Given the description of an element on the screen output the (x, y) to click on. 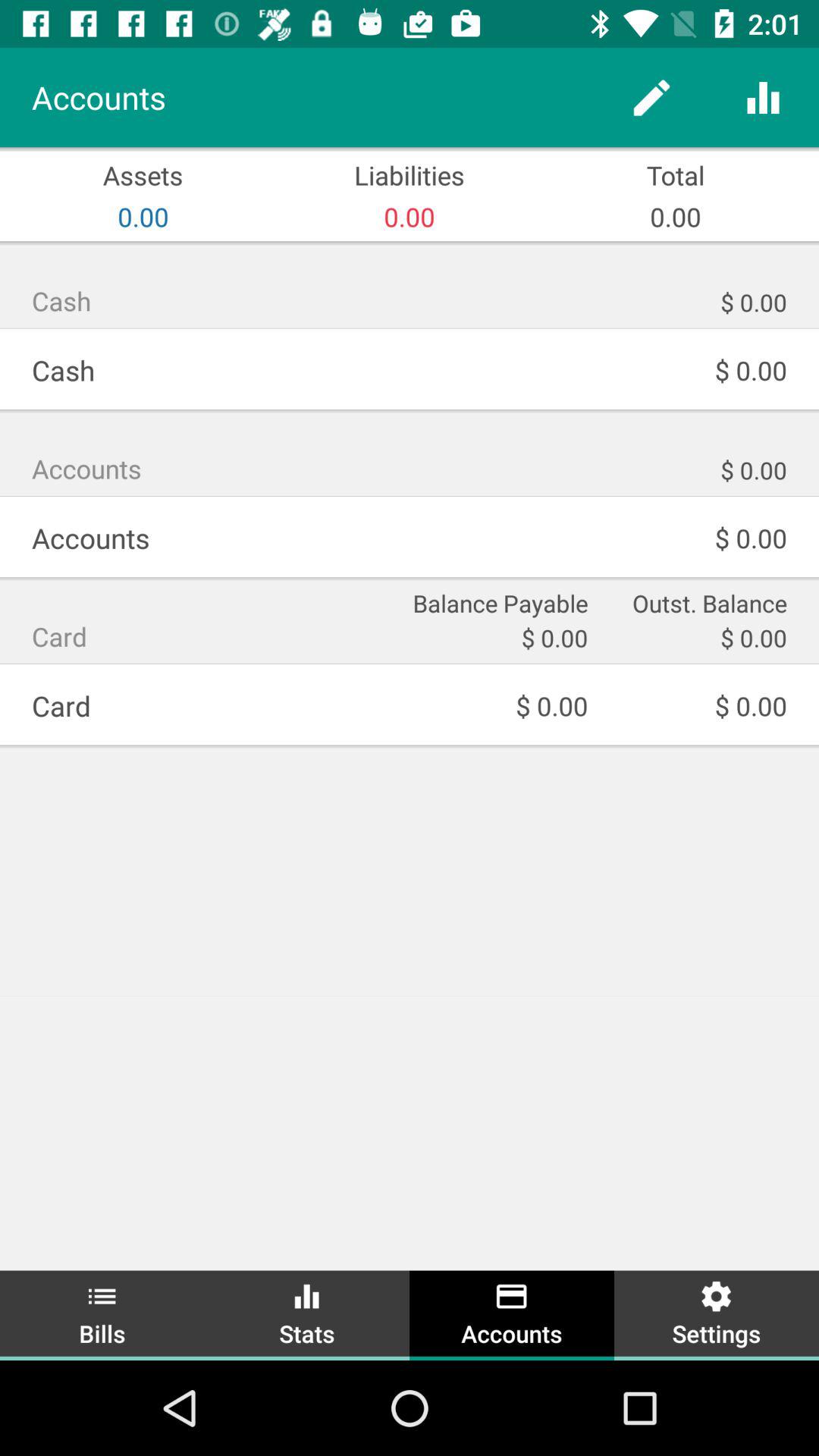
flip to the outst. balance icon (697, 601)
